Given the description of an element on the screen output the (x, y) to click on. 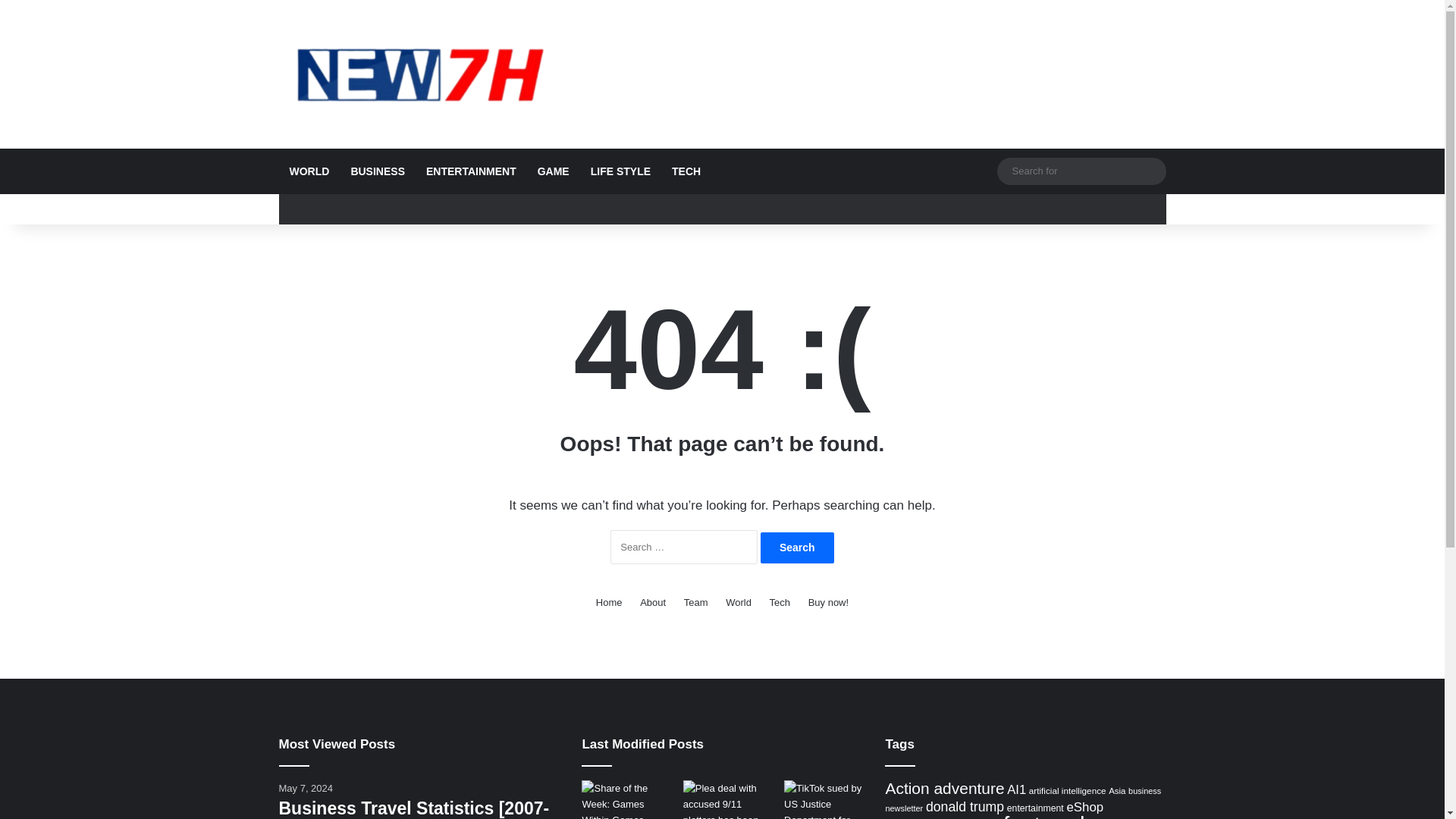
TECH (686, 171)
WORLD (309, 171)
Tech (780, 602)
Search (797, 547)
Home (609, 602)
World (738, 602)
Search for (1080, 170)
Buy now! (828, 602)
About (652, 602)
LIFE STYLE (620, 171)
Search for (1150, 171)
Buy now! (828, 602)
Team (695, 602)
Search (797, 547)
BUSINESS (376, 171)
